Given the description of an element on the screen output the (x, y) to click on. 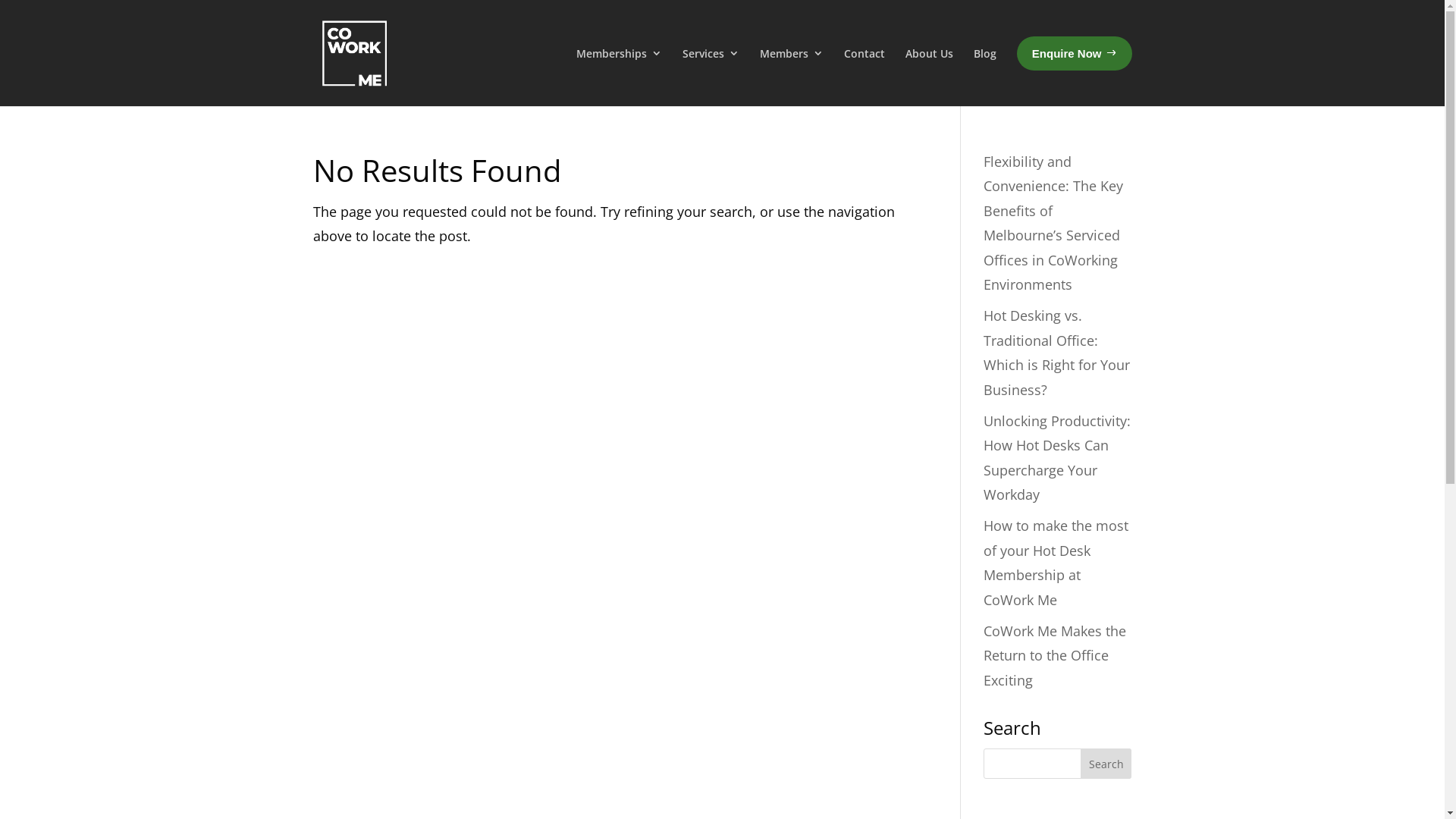
Enquire Now Element type: text (1074, 53)
CoWork Me Makes the Return to the Office Exciting Element type: text (1054, 655)
Contact Element type: text (864, 74)
Memberships Element type: text (619, 74)
About Us Element type: text (929, 74)
Members Element type: text (791, 74)
Search Element type: text (1106, 763)
Services Element type: text (710, 74)
Blog Element type: text (984, 74)
